Given the description of an element on the screen output the (x, y) to click on. 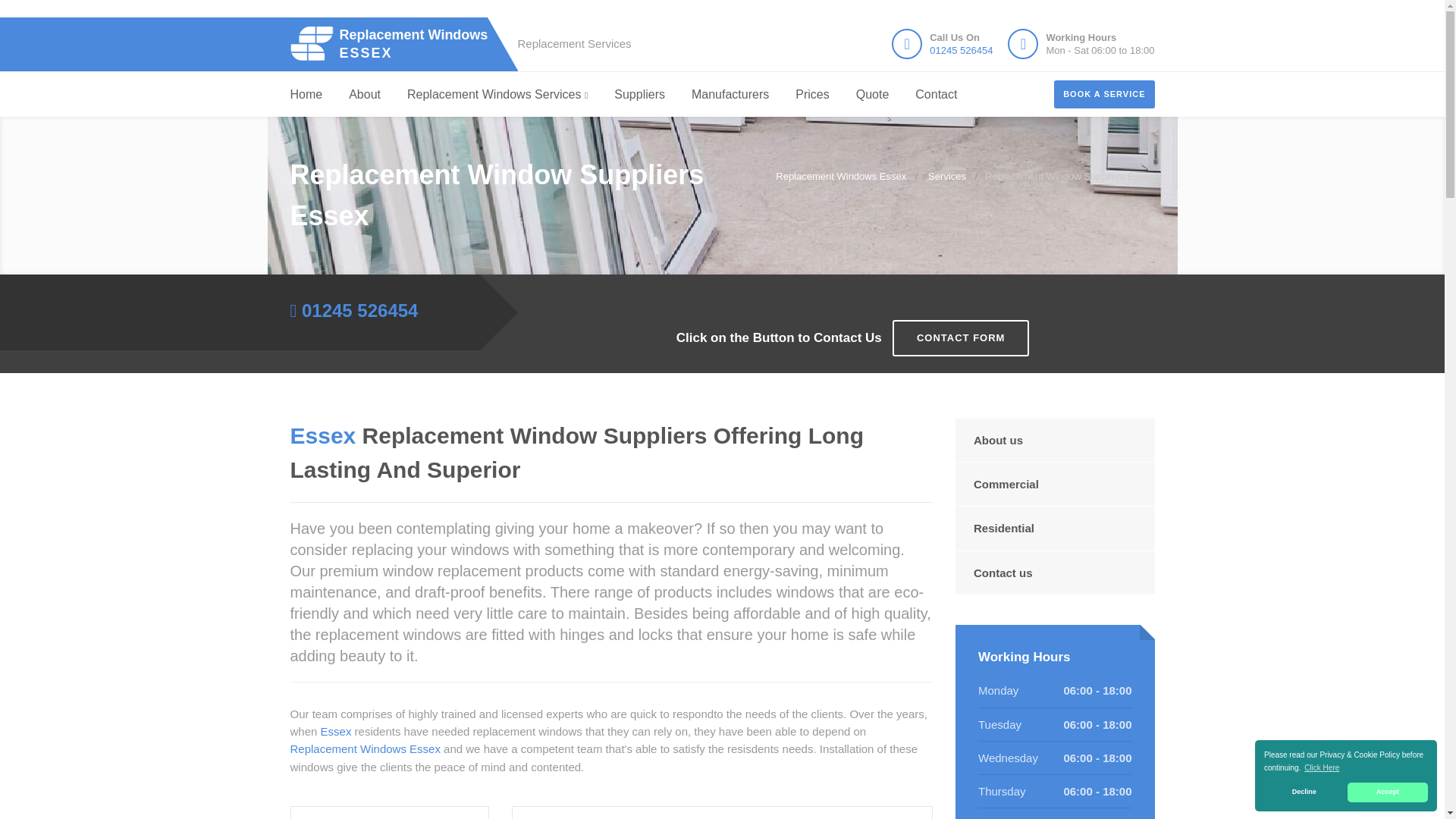
BOOK A SERVICE (1104, 94)
Decline (1303, 792)
Contact (935, 94)
Manufacturers (729, 94)
Click Here (1321, 767)
Replacement Windows Essex (395, 43)
Replacement Windows Services (497, 94)
Suppliers (639, 94)
Accept (395, 43)
01245 526454 (1388, 792)
